Given the description of an element on the screen output the (x, y) to click on. 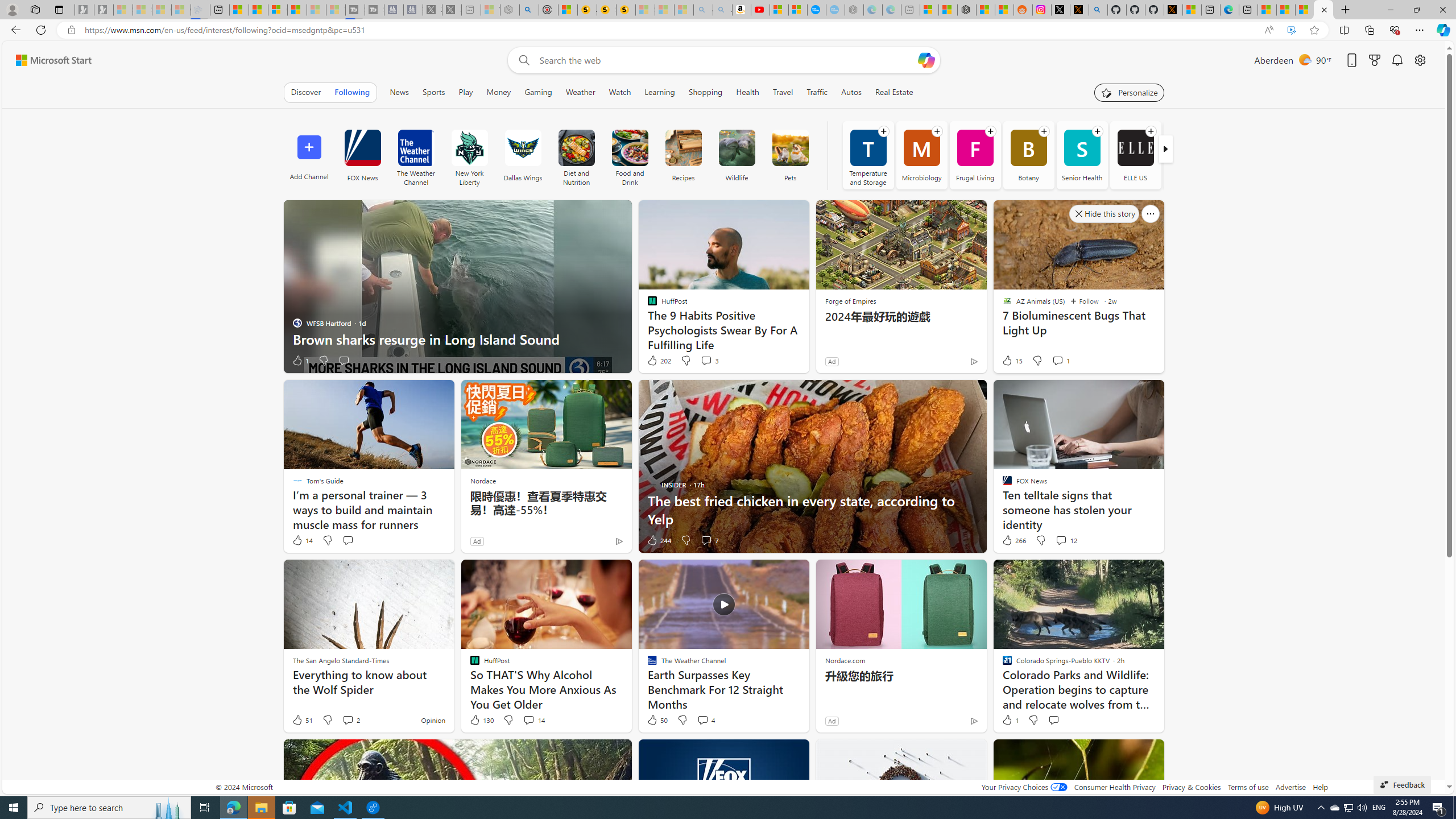
Learning (659, 92)
202 Like (658, 360)
Play (465, 92)
Microbiology (921, 155)
Enter your search term (726, 59)
Consumer Health Privacy (1115, 786)
Web search (520, 60)
Nordace - Summer Adventures 2024 - Sleeping (509, 9)
Overview (277, 9)
